Given the description of an element on the screen output the (x, y) to click on. 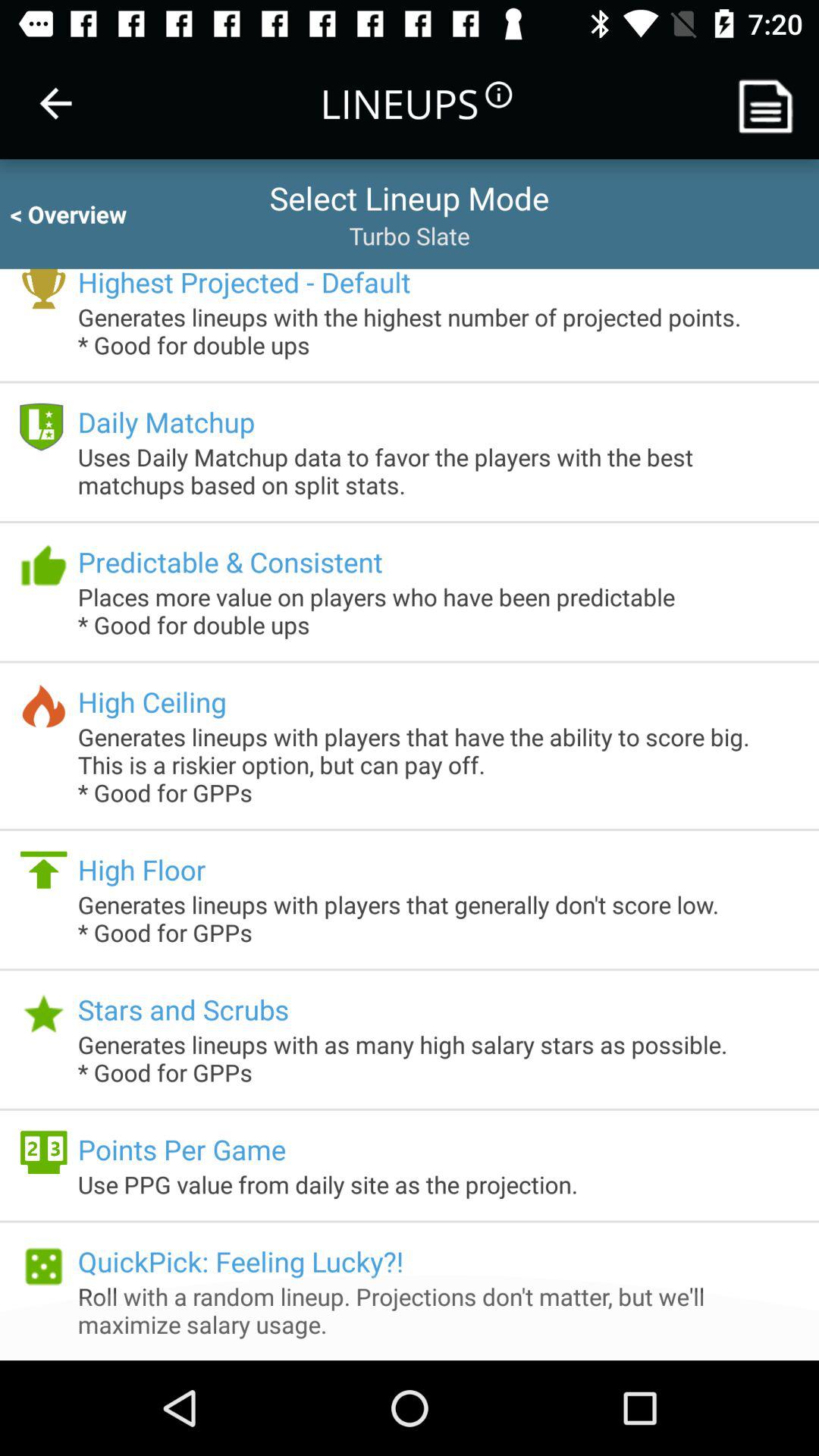
go to main menu (771, 103)
